Given the description of an element on the screen output the (x, y) to click on. 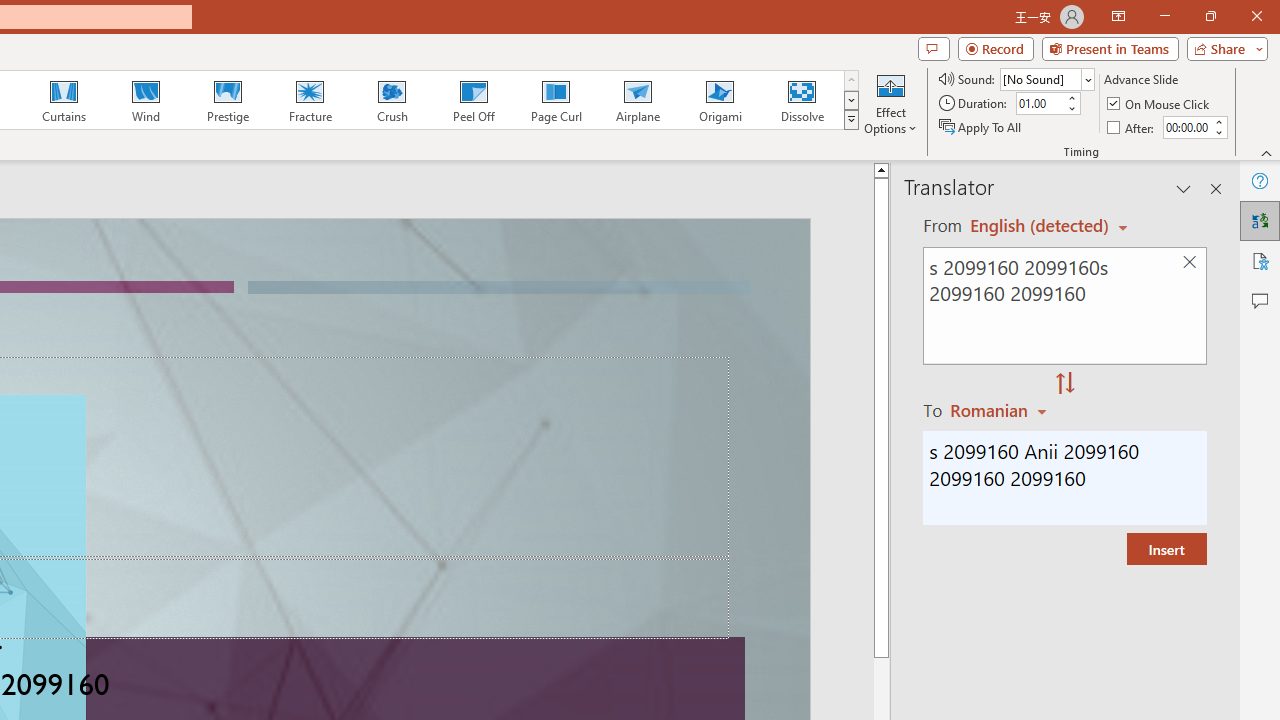
Clear text (1189, 262)
Dissolve (802, 100)
Peel Off (473, 100)
Airplane (637, 100)
Wind (145, 100)
